Given the description of an element on the screen output the (x, y) to click on. 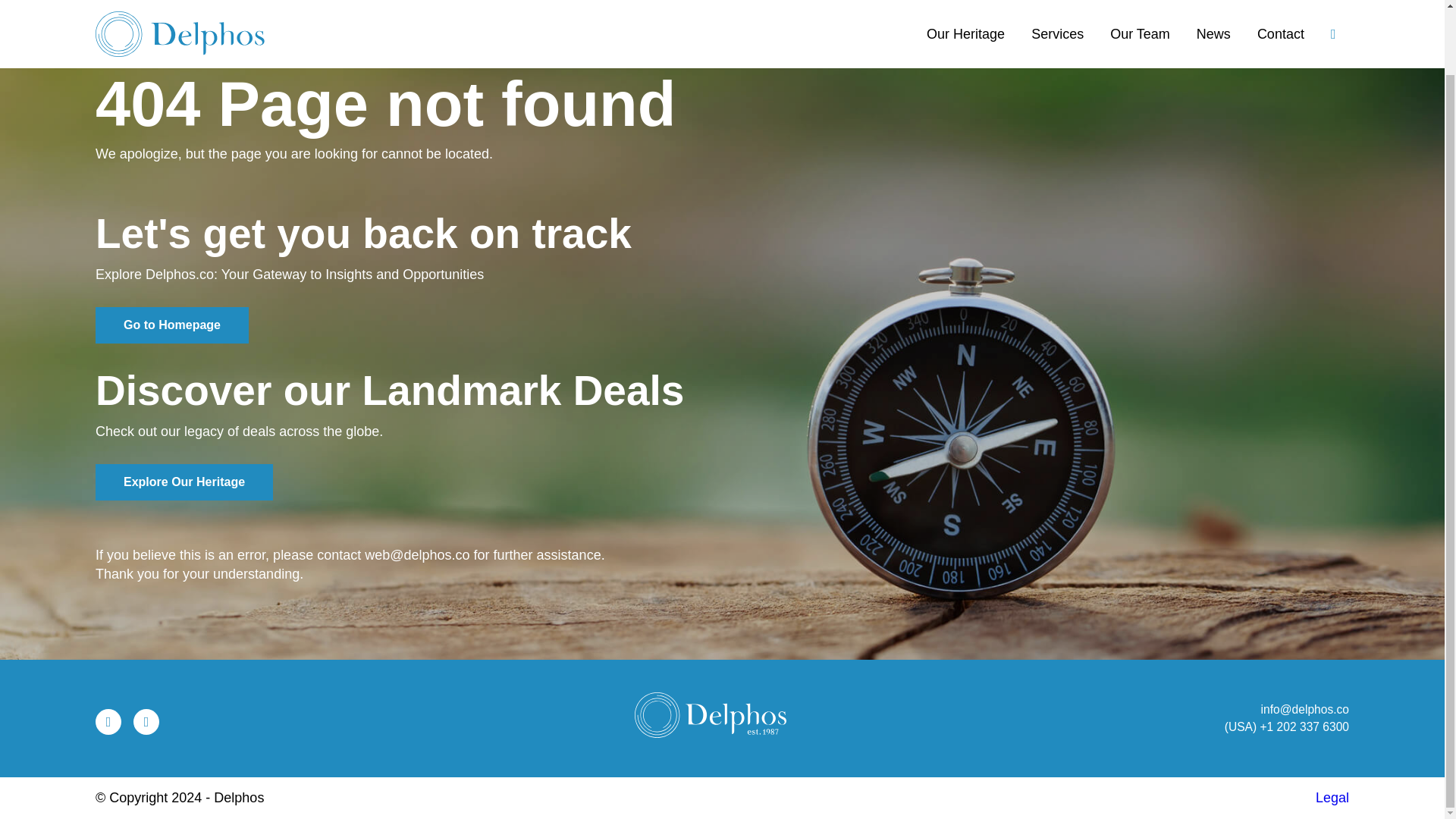
Go to Homepage (172, 325)
Explore Our Heritage (184, 482)
Legal (1332, 797)
